Given the description of an element on the screen output the (x, y) to click on. 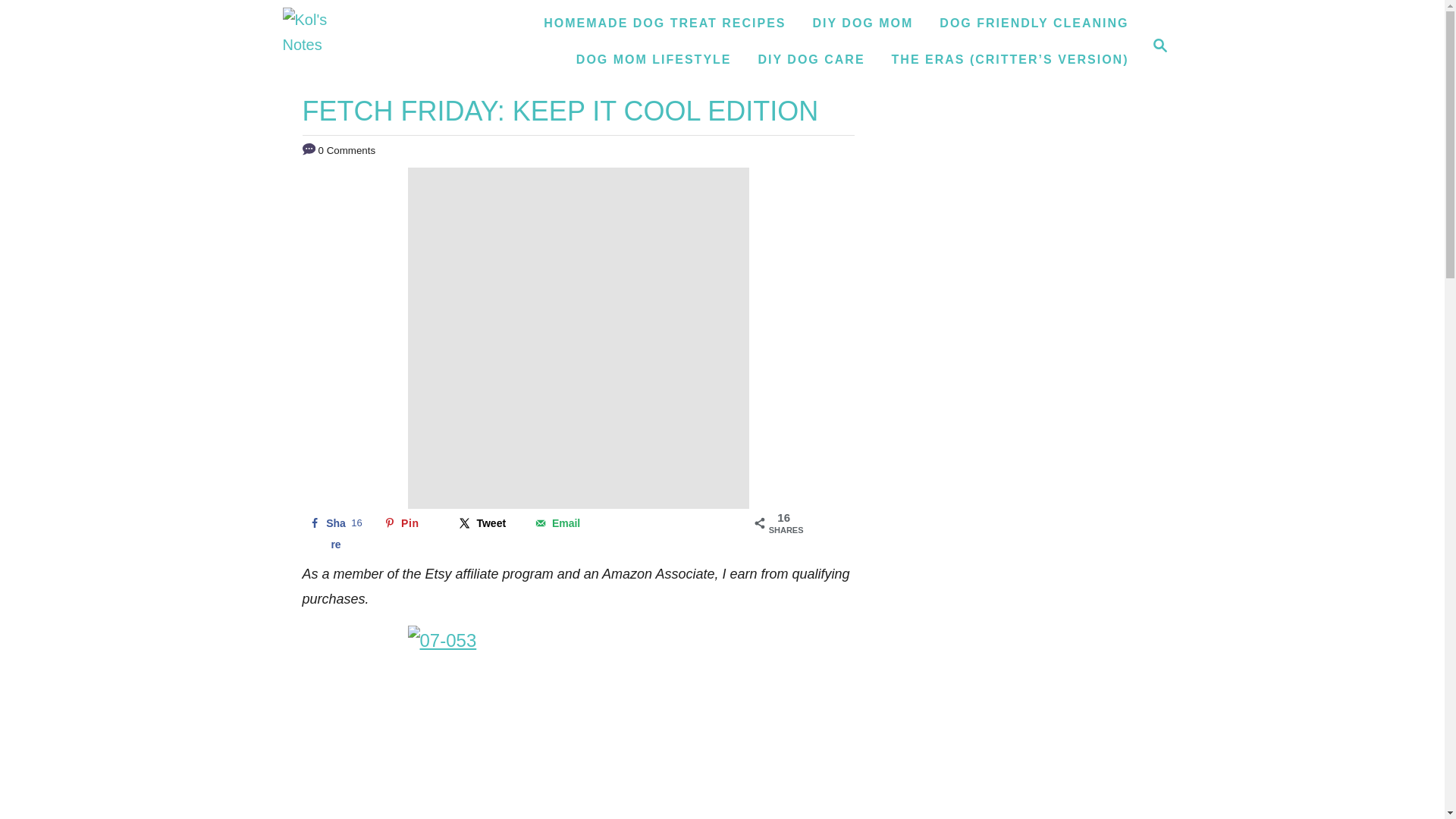
Save to Pinterest (410, 523)
Share on X (485, 523)
HOMEMADE DOG TREAT RECIPES (664, 23)
Pin (410, 523)
Email (561, 523)
Magnifying Glass (1155, 45)
Kol's Notes (1160, 45)
DOG FRIENDLY CLEANING (325, 45)
DIY DOG MOM (1033, 23)
Tweet (863, 23)
DOG MOM LIFESTYLE (485, 523)
Share on Facebook (334, 523)
